Given the description of an element on the screen output the (x, y) to click on. 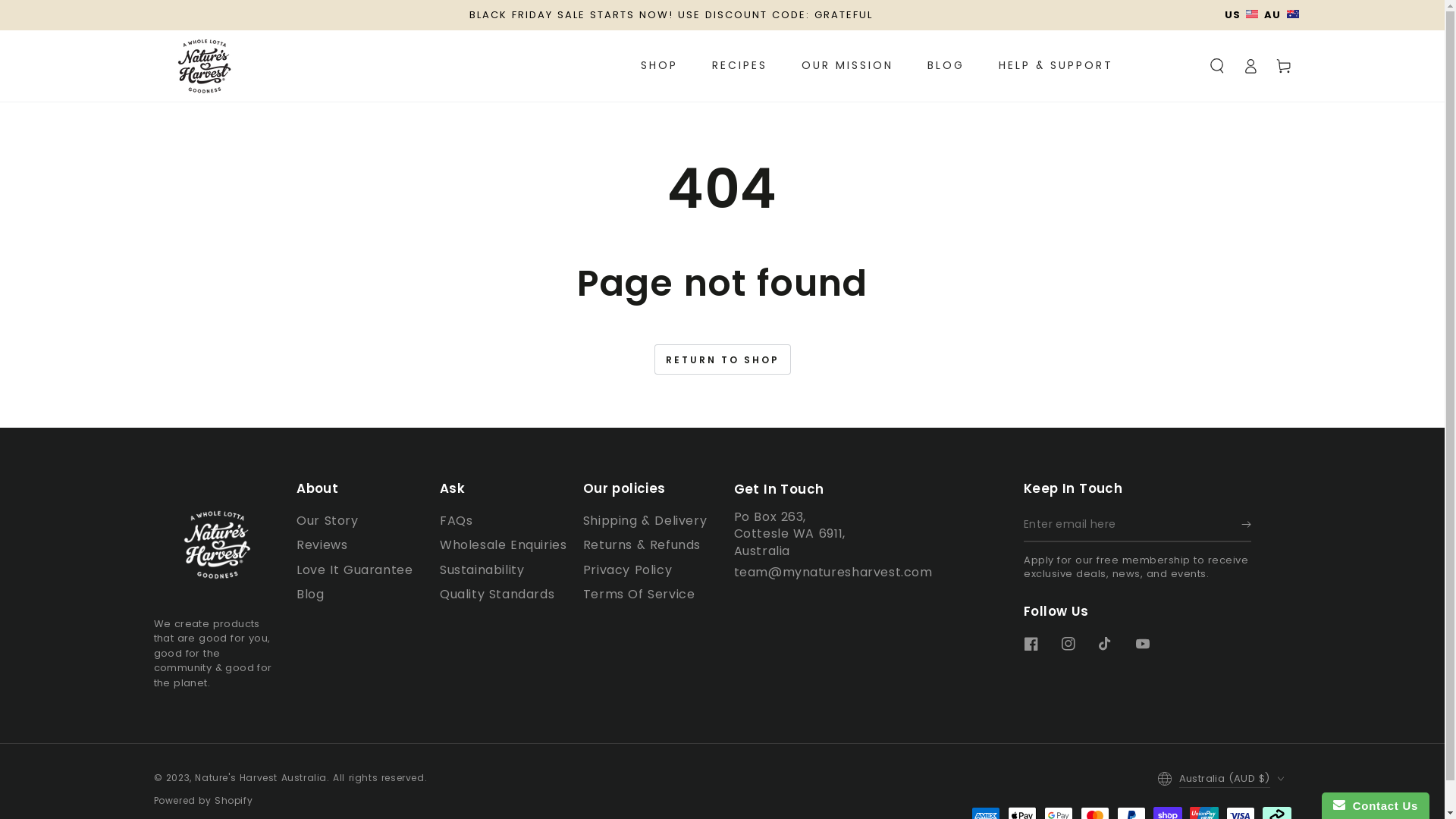
Nature's Harvest Australia Element type: text (260, 777)
Privacy Policy Element type: text (627, 569)
RECIPES Element type: text (739, 65)
team@mynaturesharvest.com Element type: text (833, 571)
BLOG Element type: text (945, 65)
Australia (AUD $) Element type: text (1224, 778)
Instagram Element type: text (1068, 643)
Reviews Element type: text (321, 544)
Quality Standards Element type: text (496, 593)
SHOP Element type: text (659, 65)
Love It Guarantee Element type: text (354, 569)
HELP & SUPPORT Element type: text (1055, 65)
Blog Element type: text (309, 593)
US Element type: text (1238, 24)
Shipping & Delivery Element type: text (644, 520)
Powered by Shopify Element type: text (202, 799)
TikTok Element type: text (1105, 643)
Terms Of Service Element type: text (639, 593)
Sustainability Element type: text (481, 569)
Our Story Element type: text (326, 520)
Log in Element type: text (1249, 65)
Facebook Element type: text (1031, 643)
YouTube Element type: text (1142, 643)
Wholesale Enquiries Element type: text (502, 544)
FAQs Element type: text (455, 520)
RETURN TO SHOP Element type: text (721, 359)
AU Element type: text (1278, 24)
Returns & Refunds Element type: text (641, 544)
USA shop Element type: hover (1251, 13)
AUS shop Element type: hover (1292, 13)
OUR MISSION Element type: text (847, 65)
